Given the description of an element on the screen output the (x, y) to click on. 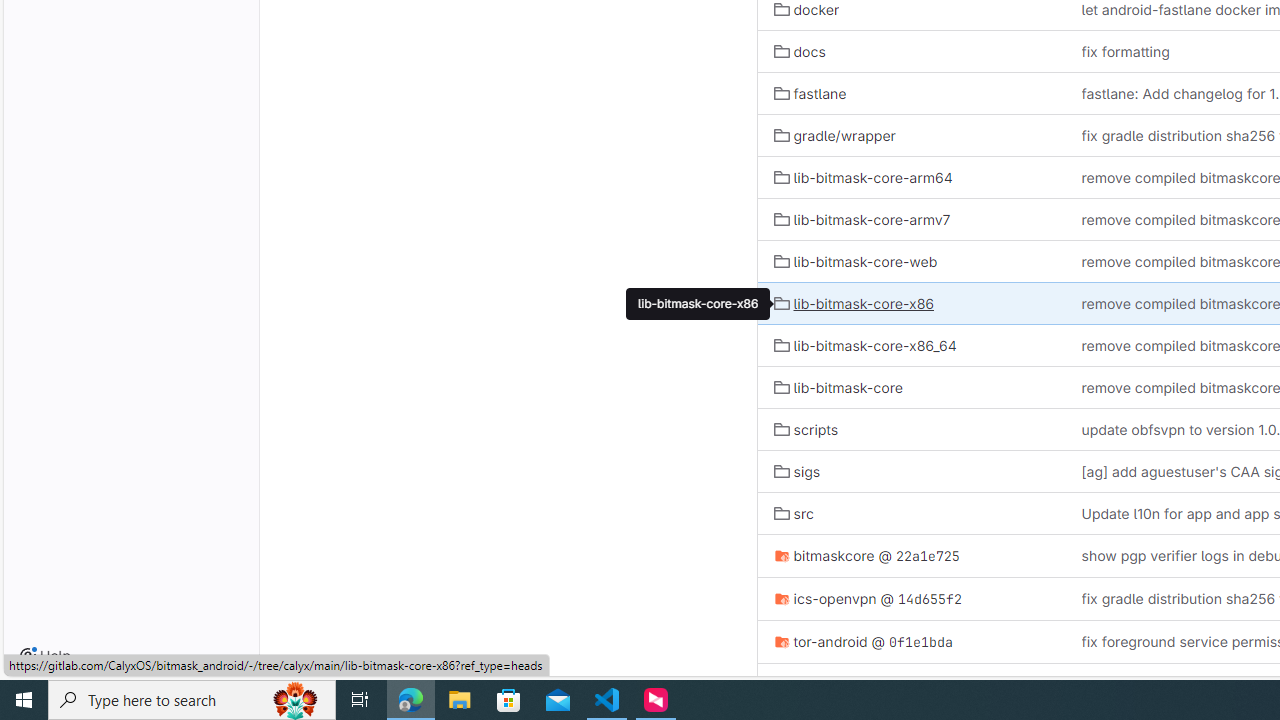
22a1e725 (927, 556)
scripts (805, 429)
sigs (911, 471)
ics-openvpn (824, 598)
lib-bitmask-core-x86 (853, 303)
bitmaskcore @ 22a1e725 (911, 556)
fix formatting (1125, 51)
fastlane (810, 92)
lib-bitmask-core-arm64 (911, 177)
